Given the description of an element on the screen output the (x, y) to click on. 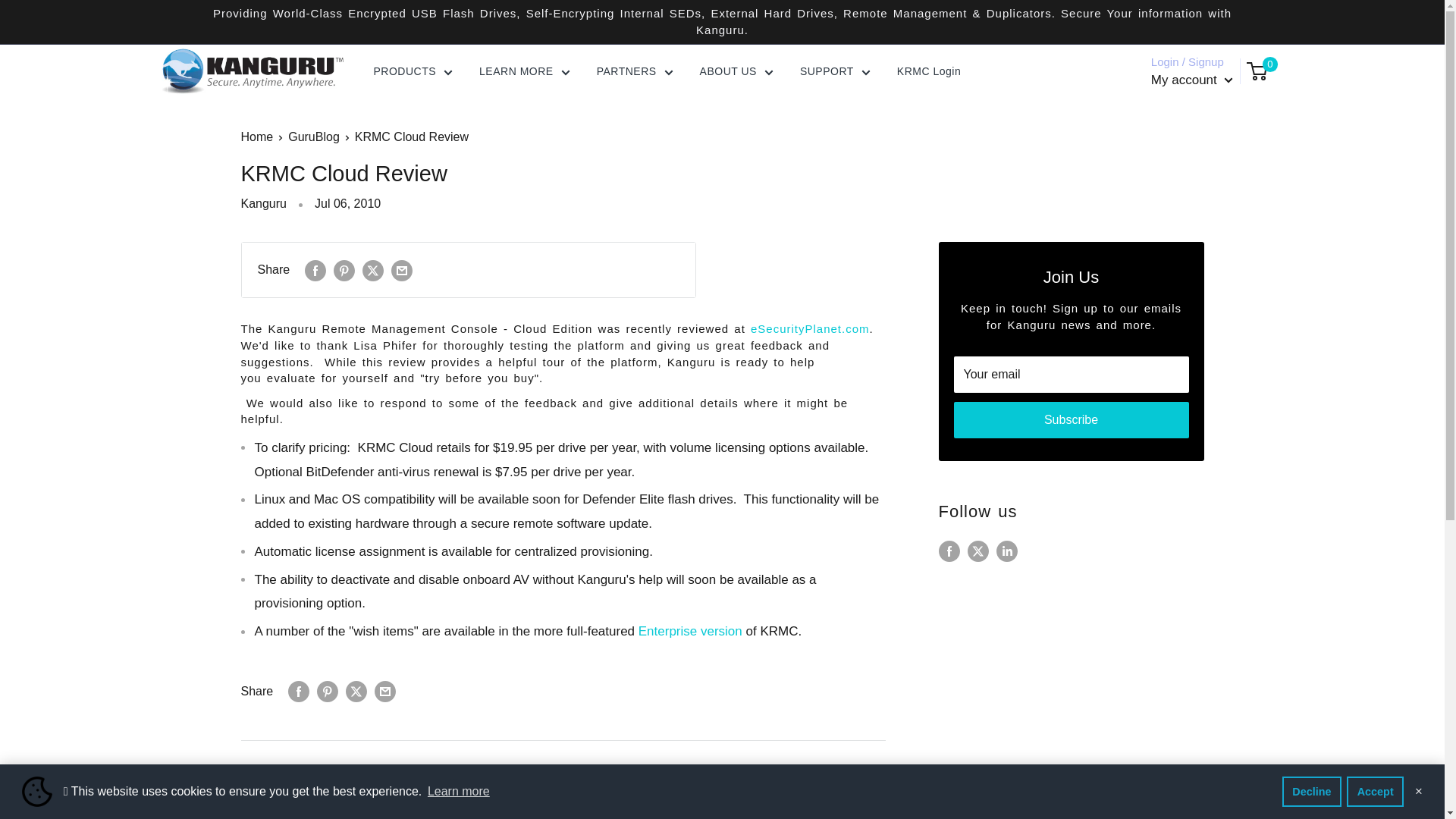
KRMC Enterprise (690, 631)
Decline (1311, 791)
eSecurityPlanet.com (810, 328)
Accept (1374, 791)
Learn more (458, 791)
